Given the description of an element on the screen output the (x, y) to click on. 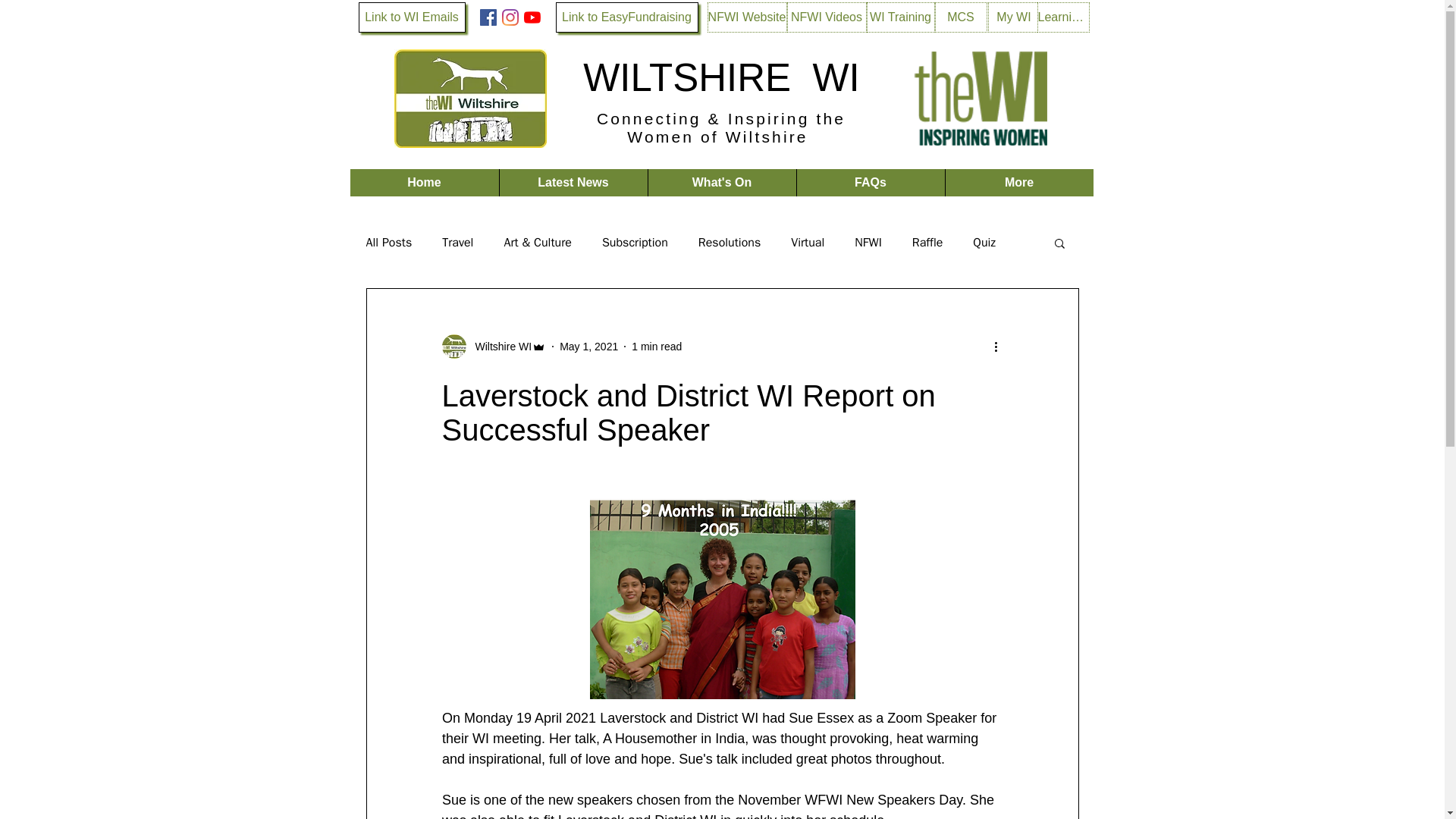
WILTSHIRE  WI (721, 77)
Latest News (573, 182)
What's On (721, 182)
MCS (960, 17)
Wiltshire WI (498, 345)
1 min read (656, 345)
Resolutions (729, 242)
Link to WI Emails (411, 17)
NFWI (867, 242)
Travel (457, 242)
